Given the description of an element on the screen output the (x, y) to click on. 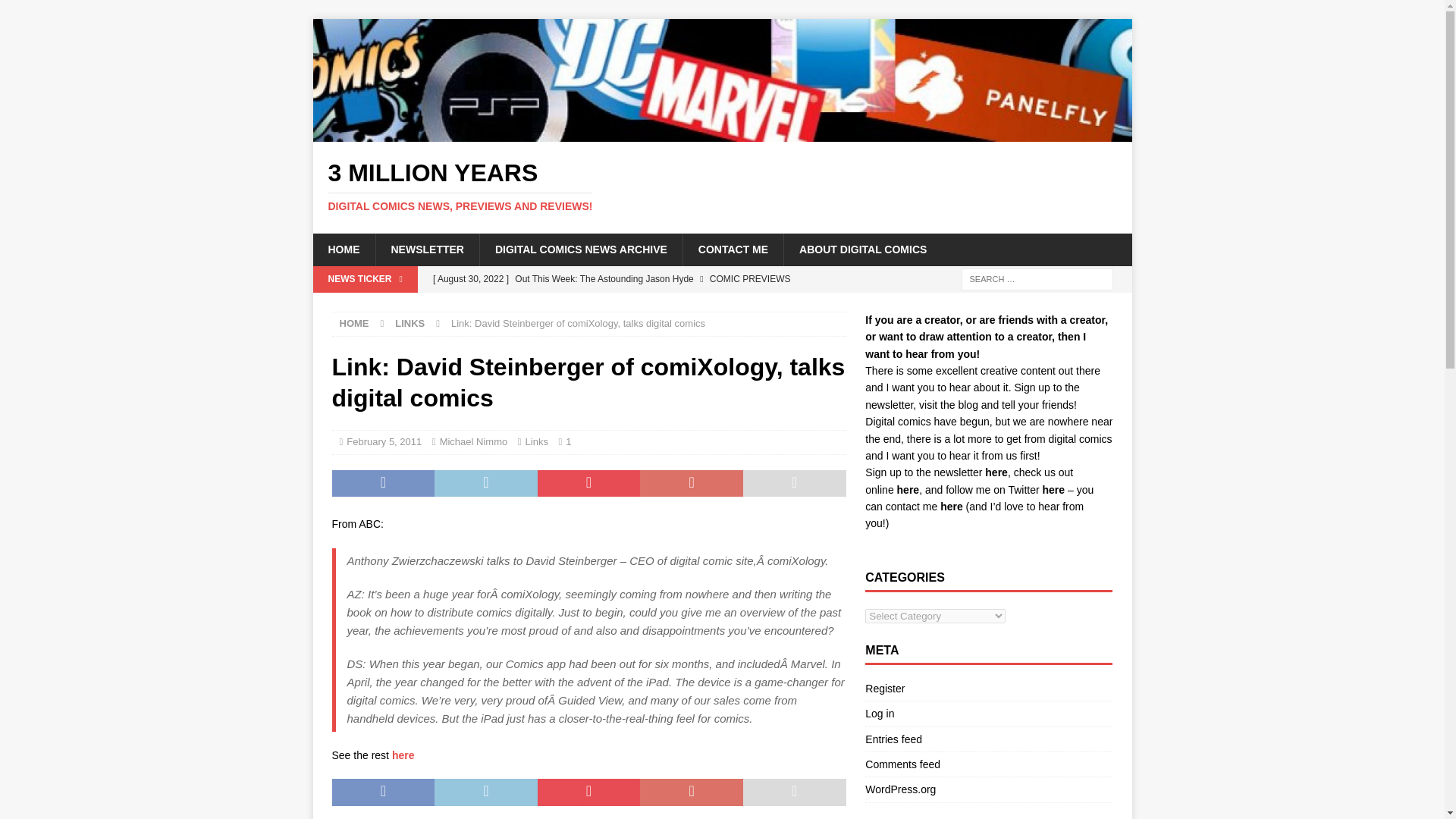
DIGITAL COMICS NEWS ARCHIVE (580, 249)
NEWSLETTER (426, 249)
Michael Nimmo (473, 441)
February 5, 2011 (384, 441)
LINKS (409, 323)
Search (56, 11)
Out This Week: The Astounding Jason Hyde (634, 278)
HOME (354, 323)
3 Million Years (722, 133)
HOME (721, 186)
3 Million Years (343, 249)
ABOUT DIGITAL COMICS (721, 186)
CONTACT ME (862, 249)
Links (732, 249)
